Given the description of an element on the screen output the (x, y) to click on. 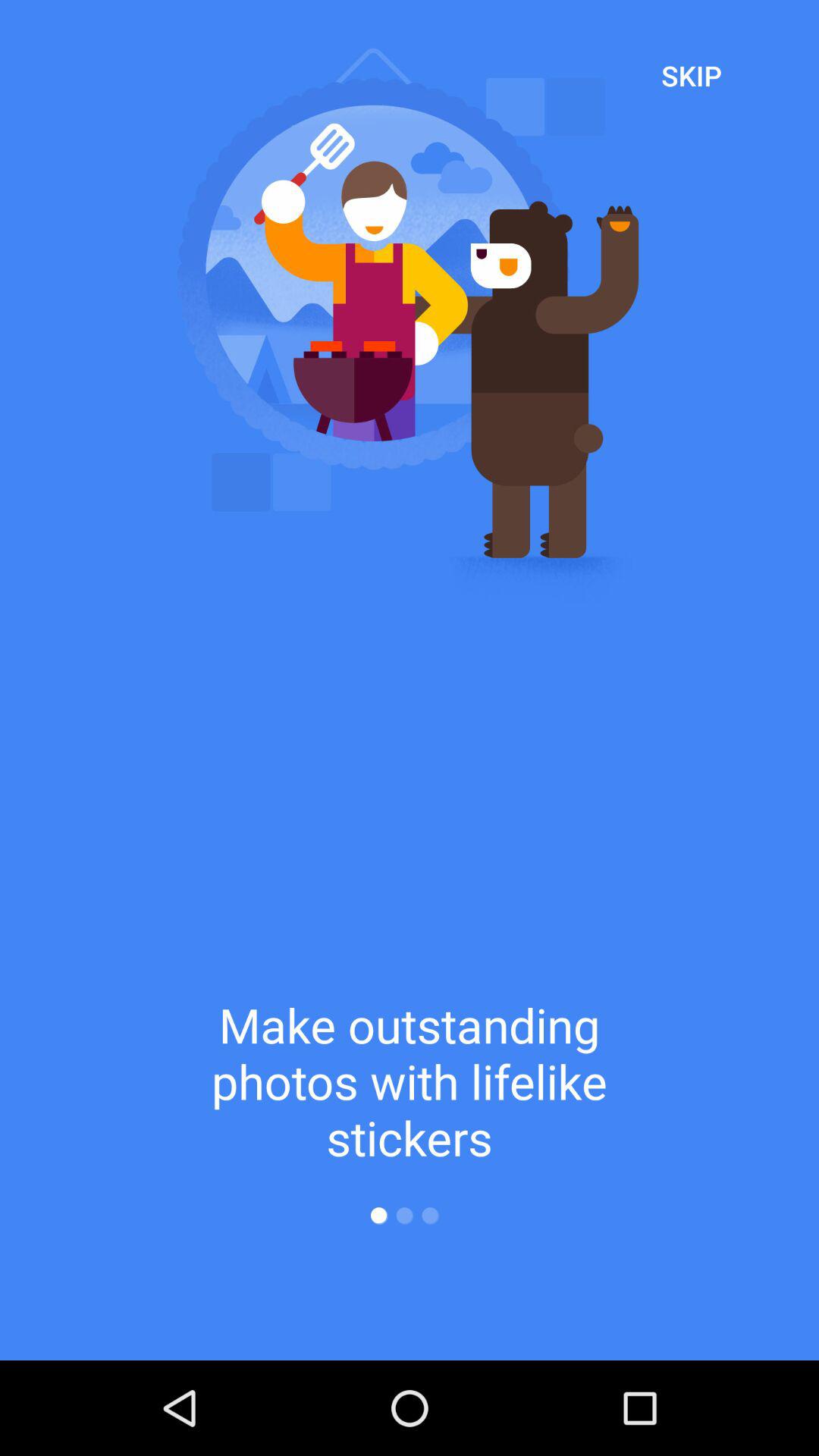
flip to the skip icon (691, 75)
